Given the description of an element on the screen output the (x, y) to click on. 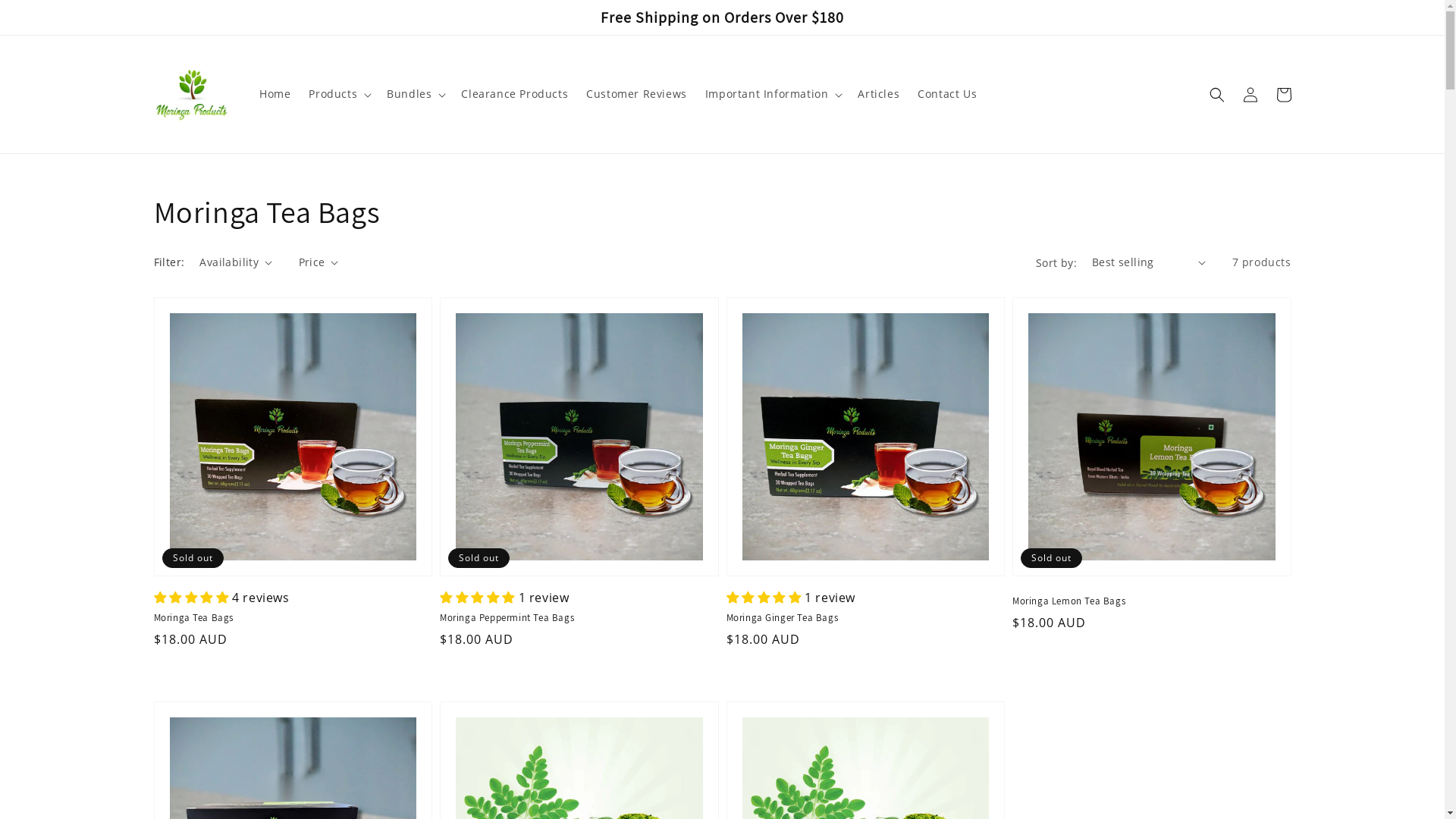
Moringa Lemon Tea Bags Element type: text (1147, 601)
Customer Reviews Element type: text (636, 93)
Home Element type: text (274, 93)
Clearance Products Element type: text (514, 93)
Contact Us Element type: text (946, 93)
Moringa Ginger Tea Bags Element type: text (861, 617)
Cart Element type: text (1282, 93)
Moringa Peppermint Tea Bags Element type: text (574, 617)
Log in Element type: text (1249, 93)
Moringa Tea Bags Element type: text (288, 617)
Articles Element type: text (878, 93)
